Given the description of an element on the screen output the (x, y) to click on. 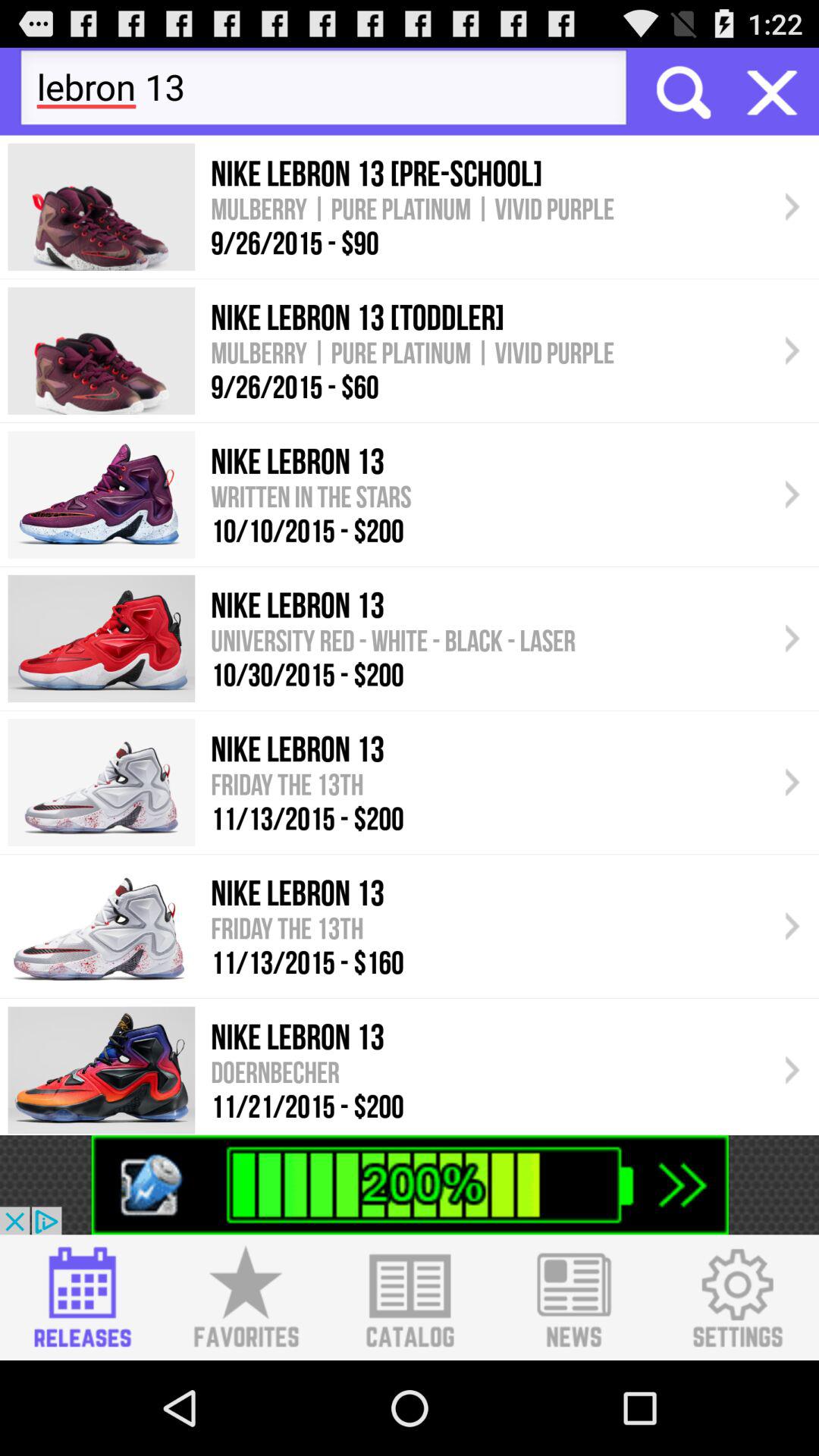
open releases (81, 1297)
